Given the description of an element on the screen output the (x, y) to click on. 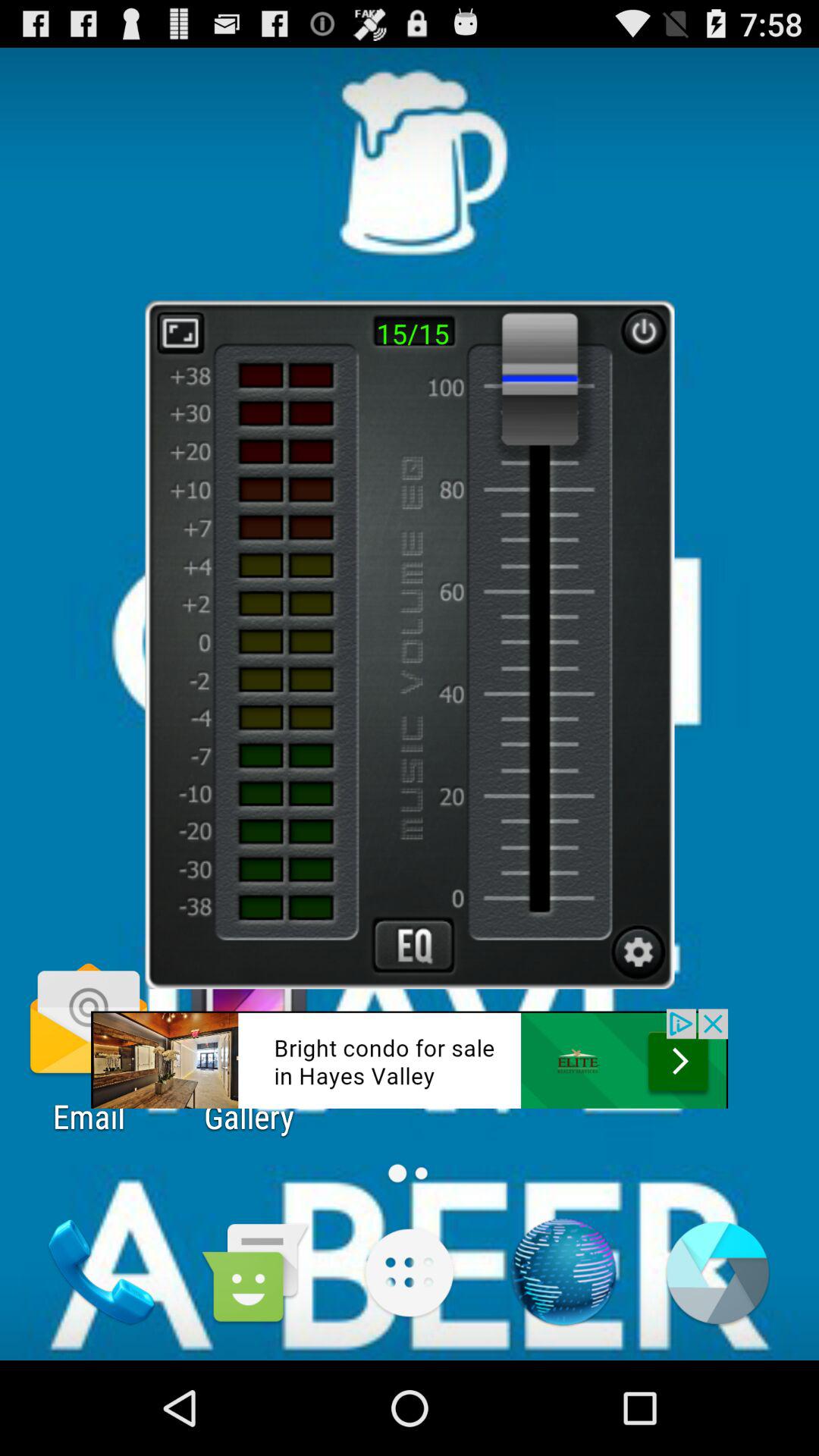
advertisement page (413, 945)
